Given the description of an element on the screen output the (x, y) to click on. 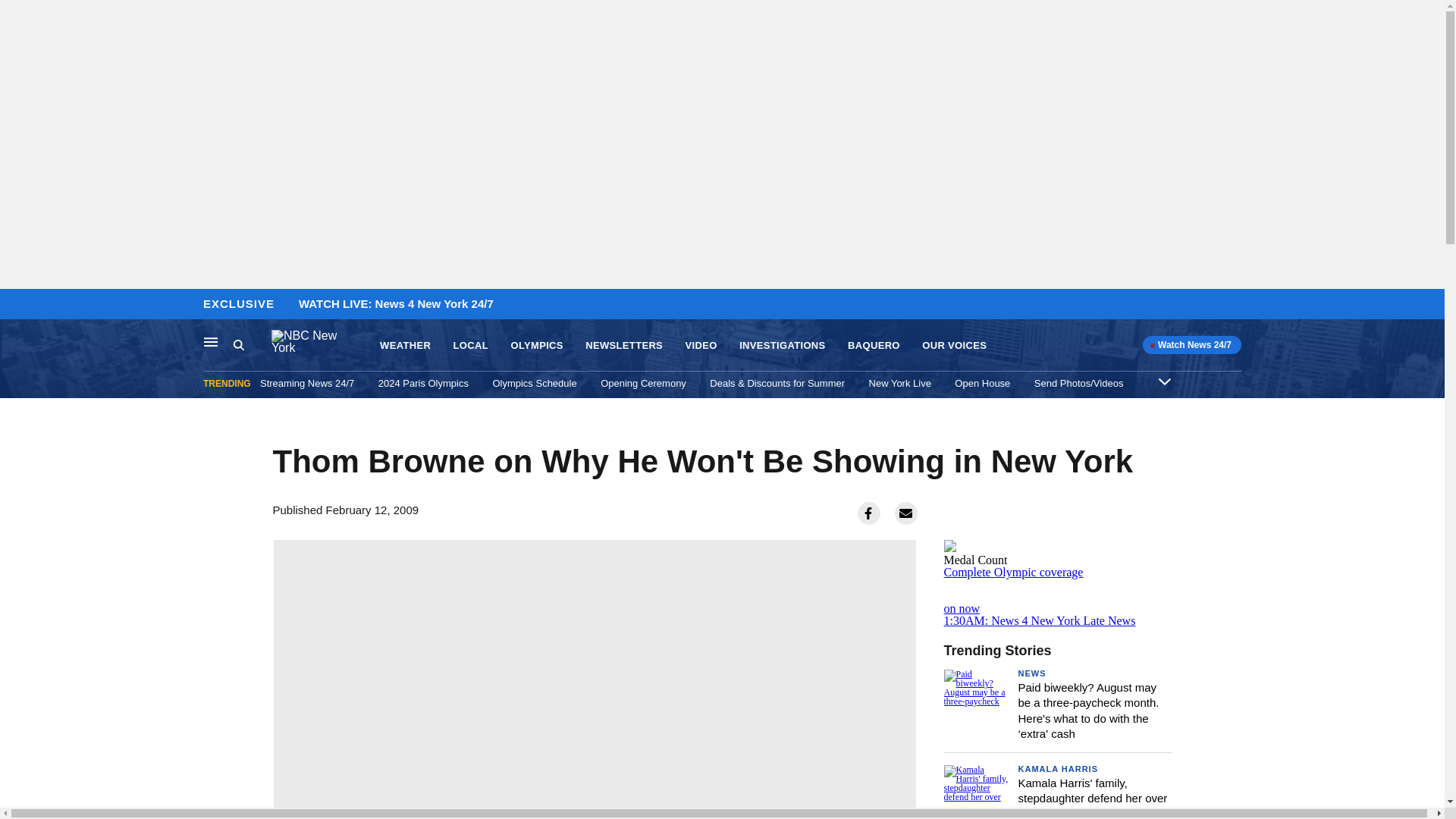
NEWSLETTERS (623, 345)
VIDEO (701, 345)
Olympics Schedule (534, 383)
Open House (982, 383)
OUR VOICES (954, 345)
LOCAL (469, 345)
2024 Paris Olympics (423, 383)
OLYMPICS (536, 345)
Search (252, 345)
Main Navigation (210, 341)
BAQUERO (873, 345)
New York Live (900, 383)
Search (238, 344)
Opening Ceremony (642, 383)
INVESTIGATIONS (782, 345)
